Given the description of an element on the screen output the (x, y) to click on. 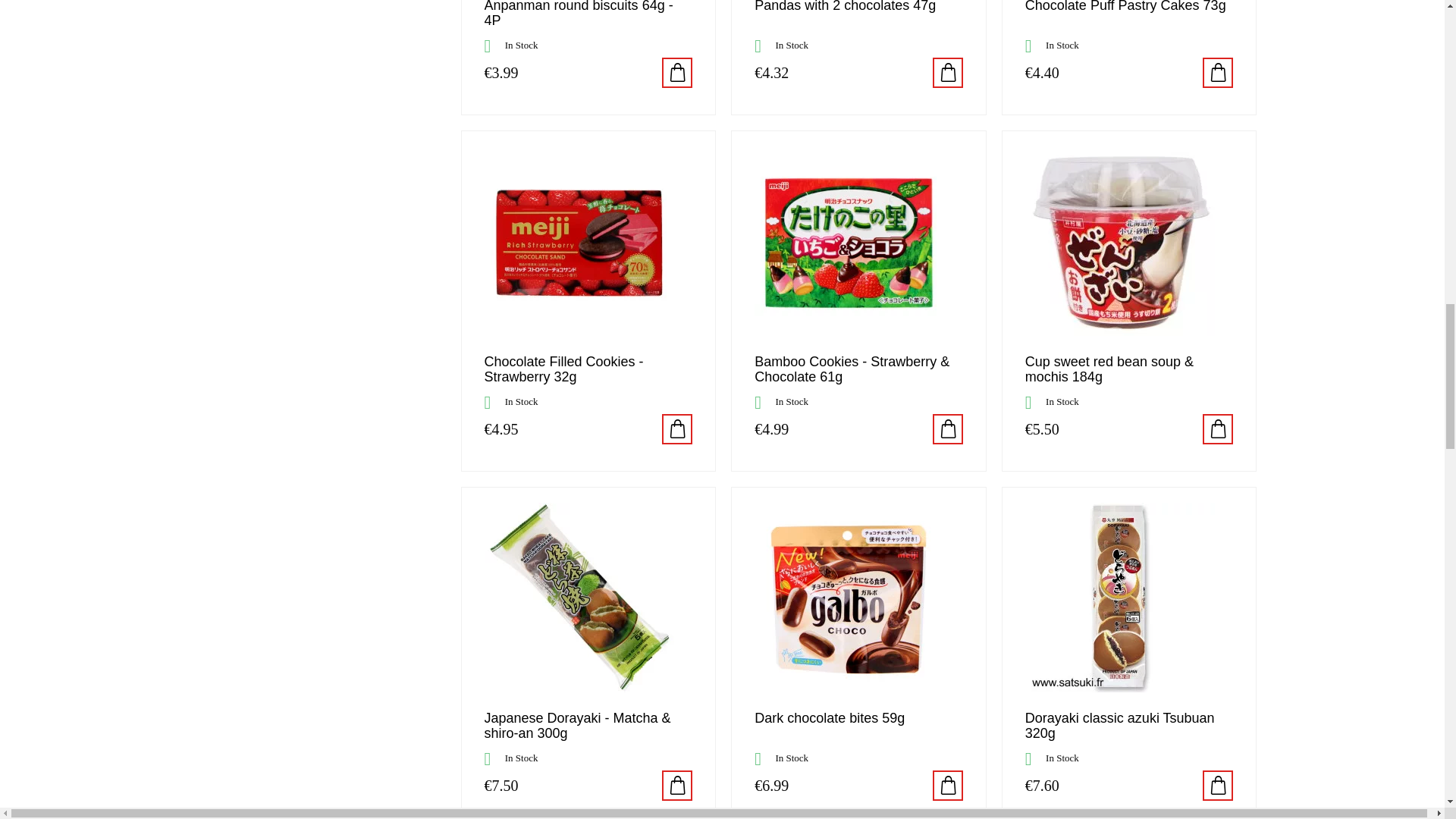
Ajouter au panier (677, 72)
